Given the description of an element on the screen output the (x, y) to click on. 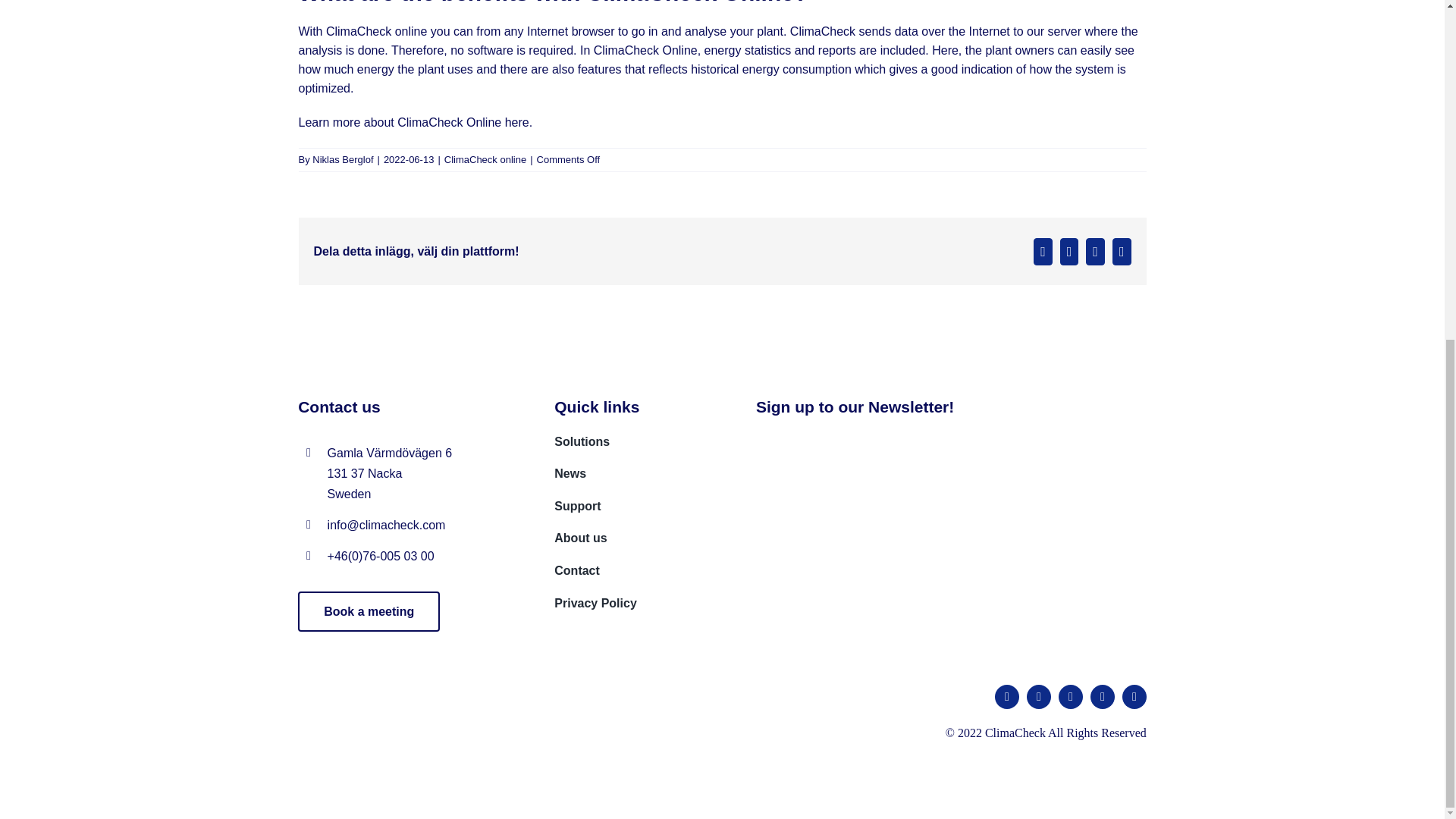
YouTube (1102, 696)
Learn more about ClimaCheck Online here. (415, 122)
X (1038, 696)
Facebook (1006, 696)
LinkedIn (1134, 696)
Instagram (1070, 696)
Niklas Berglof (342, 159)
Posts by Niklas Berglof (342, 159)
ClimaCheck online (484, 159)
